Given the description of an element on the screen output the (x, y) to click on. 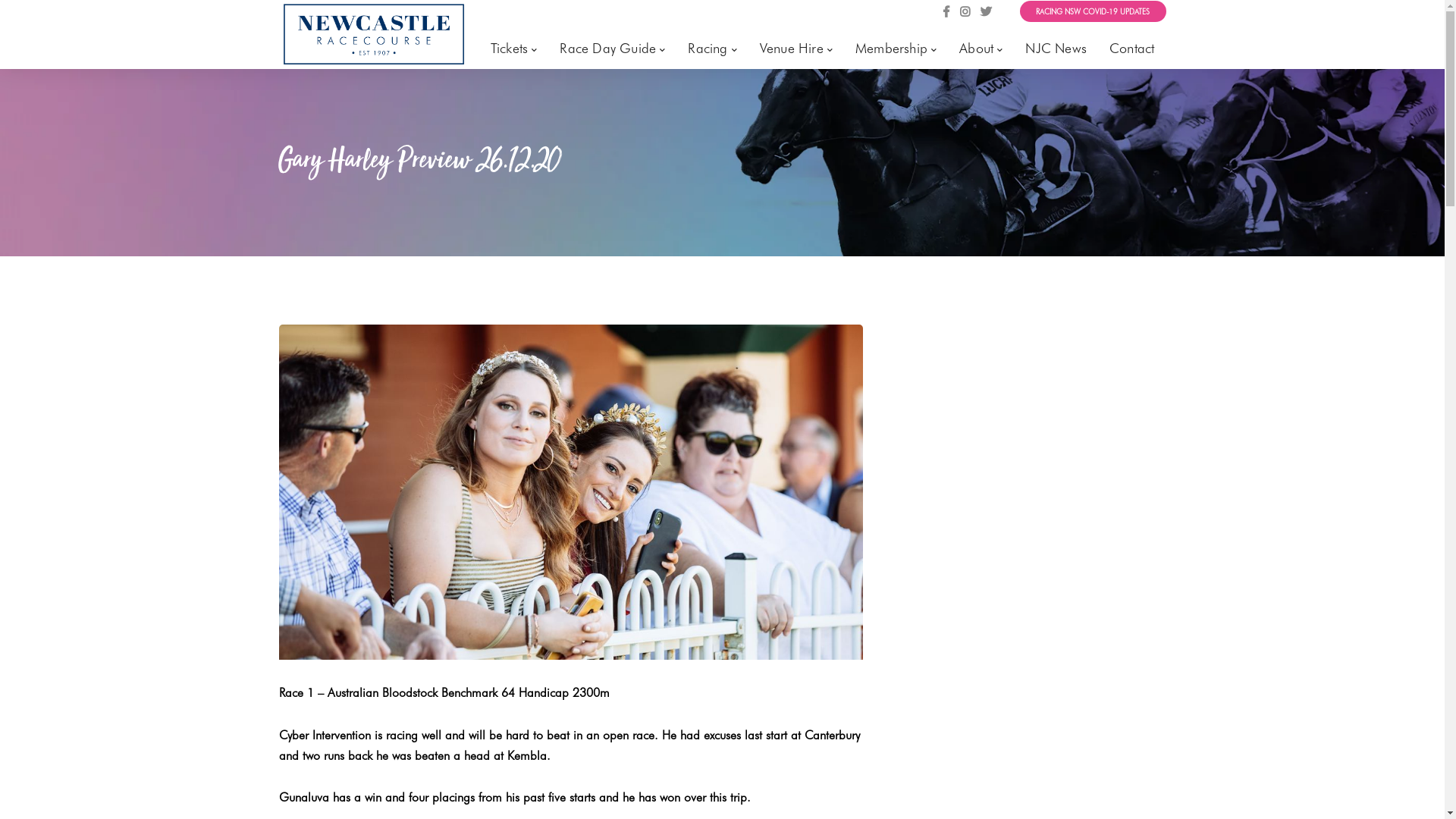
NJC News Element type: text (1055, 48)
Race Day Guide Element type: text (612, 48)
Venue Hire Element type: text (796, 48)
About Element type: text (980, 48)
Newcastle Racecourse Element type: hover (373, 32)
RACING NSW COVID-19 UPDATES Element type: text (1092, 10)
Contact Element type: text (1131, 48)
Instagram Element type: hover (964, 11)
Racing Element type: text (711, 48)
Twitter Element type: hover (985, 11)
Tickets Element type: text (514, 48)
Facebook Element type: hover (946, 11)
Membership Element type: text (895, 48)
